Given the description of an element on the screen output the (x, y) to click on. 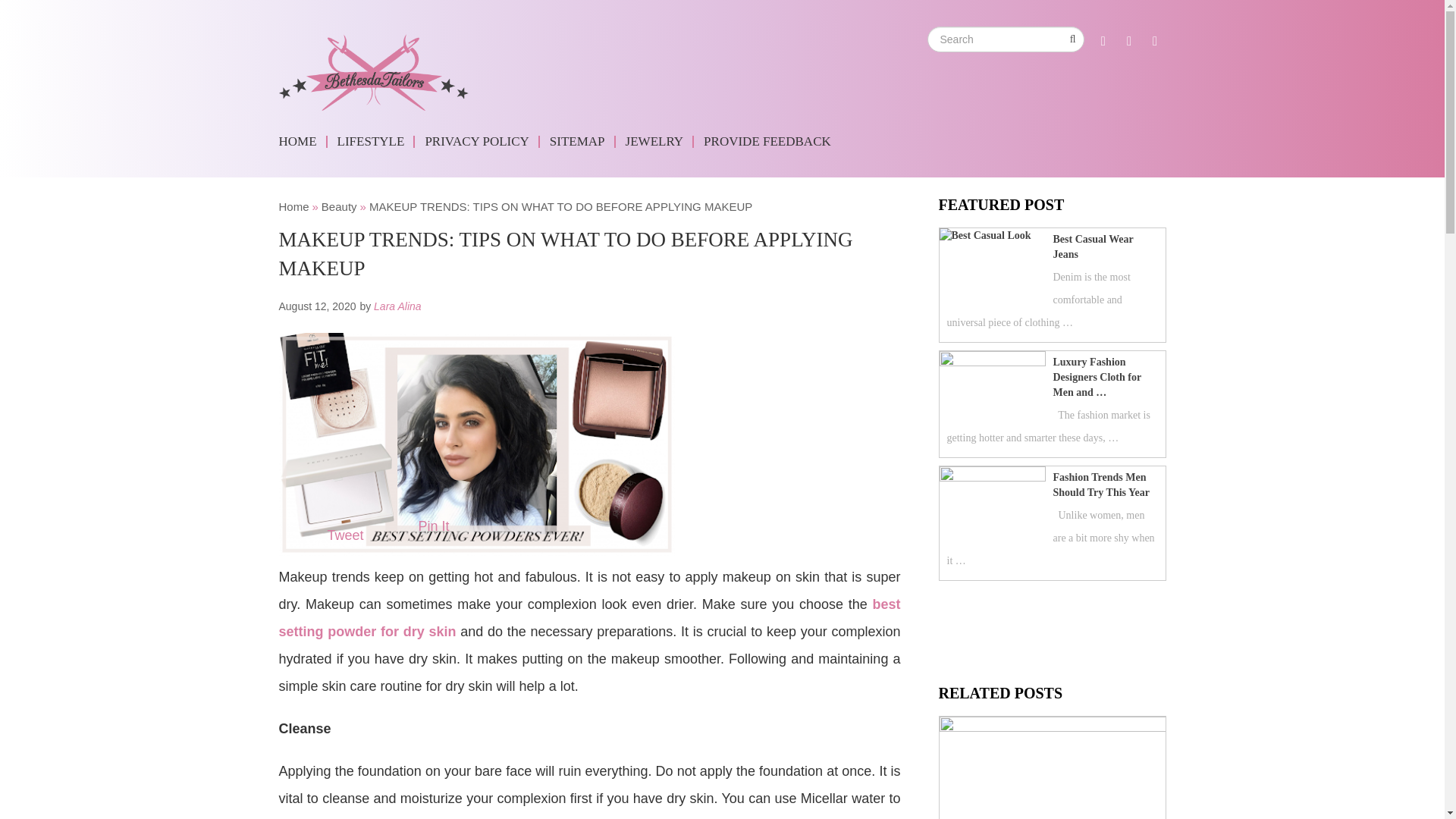
PROVIDE FEEDBACK (768, 141)
Home (293, 205)
best setting powder for dry skin (590, 618)
Pin It (434, 525)
HOME (303, 141)
LIFESTYLE (372, 141)
Posts by Lara Alina (398, 306)
PRIVACY POLICY (478, 141)
JEWELRY (657, 141)
Best Casual Wear Jeans (1048, 246)
